Given the description of an element on the screen output the (x, y) to click on. 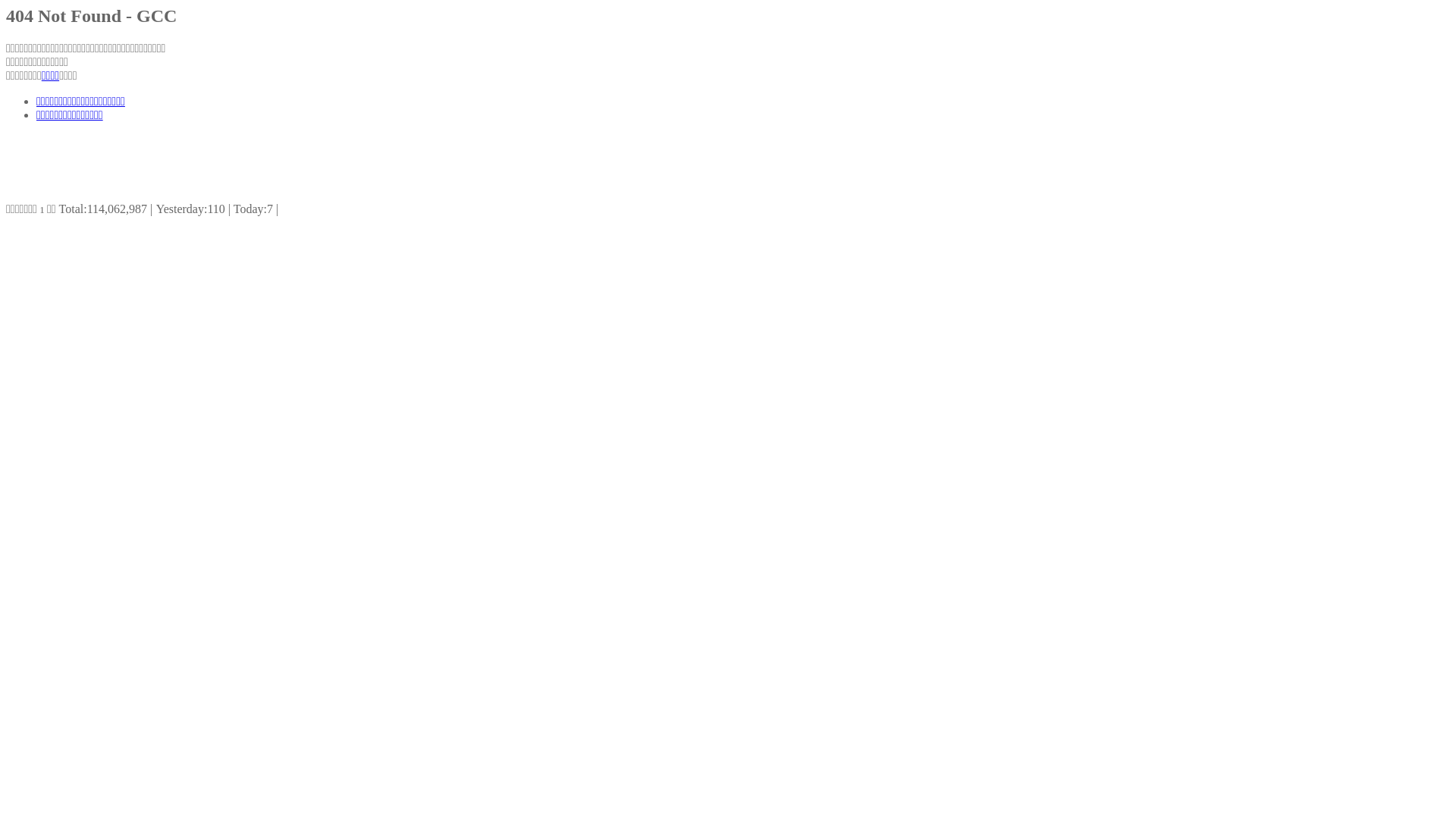
Advertisement Element type: hover (282, 168)
